Given the description of an element on the screen output the (x, y) to click on. 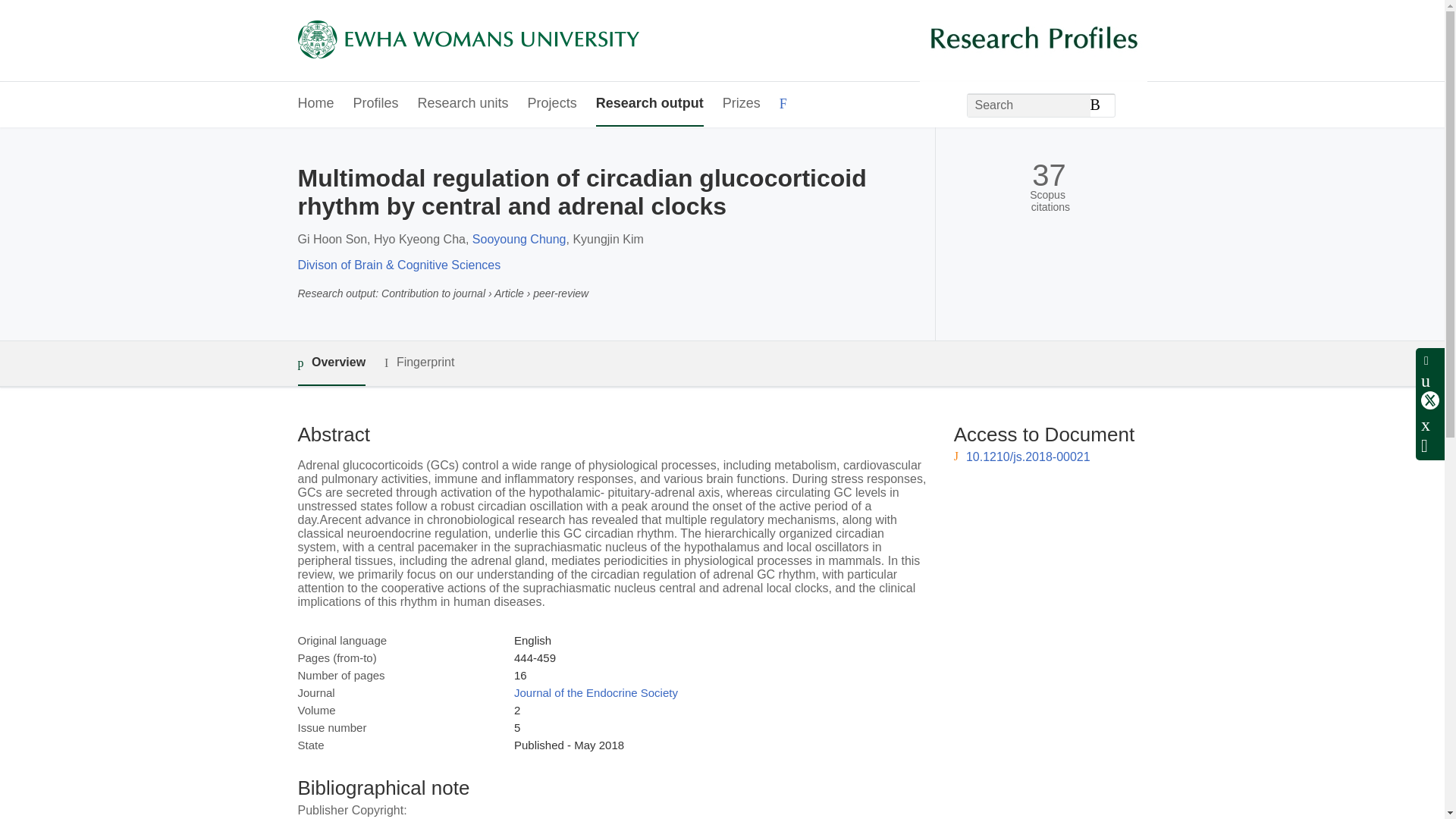
Sooyoung Chung (518, 238)
Journal of the Endocrine Society (595, 692)
Ewha Womans University Home (468, 40)
Overview (331, 363)
Fingerprint (419, 362)
Research output (649, 103)
Research units (462, 103)
Projects (551, 103)
Profiles (375, 103)
